Given the description of an element on the screen output the (x, y) to click on. 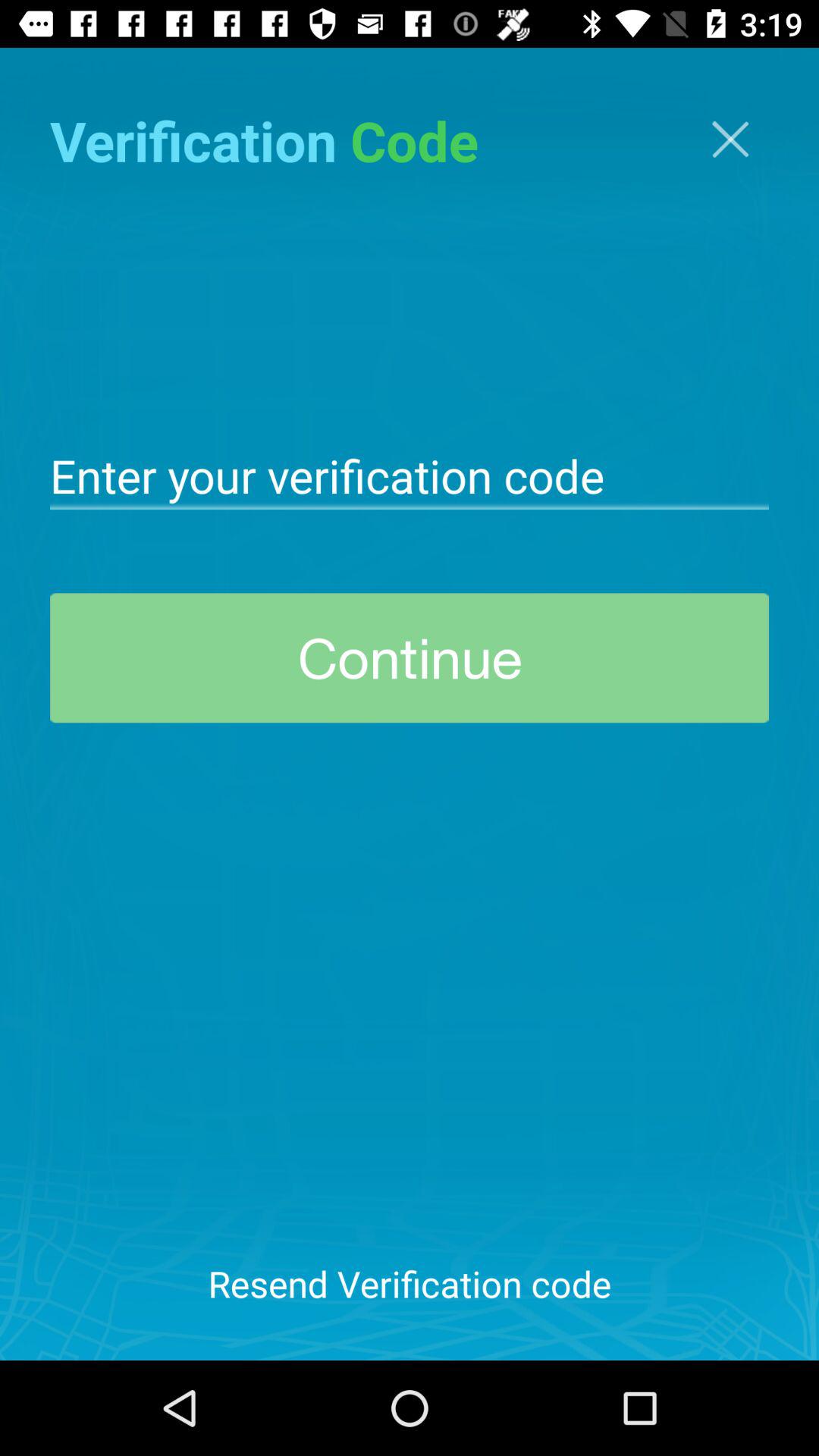
press the icon next to the verification code (730, 139)
